Given the description of an element on the screen output the (x, y) to click on. 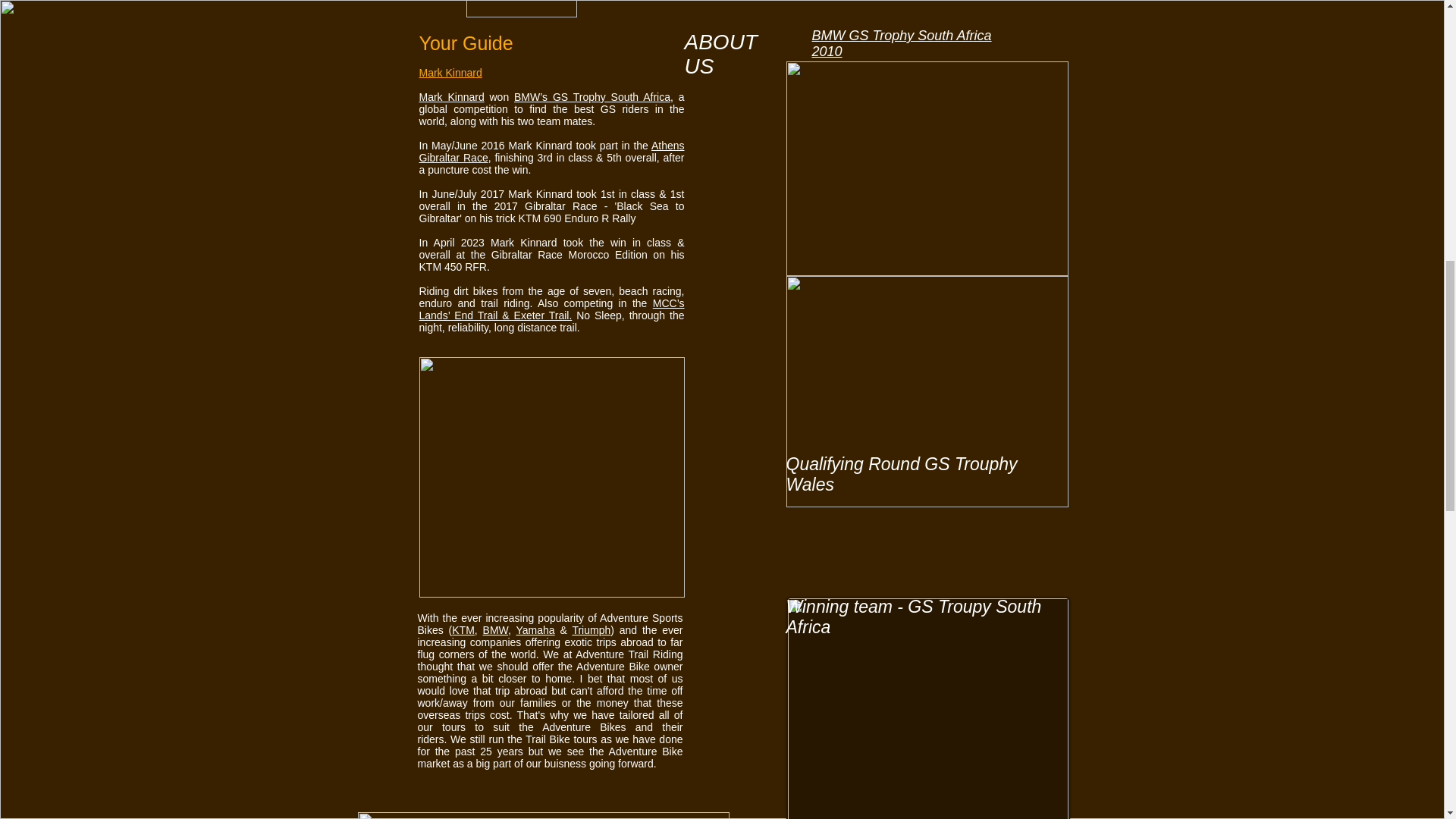
Yamaha (535, 630)
Mark Kinnard (450, 72)
KTM (462, 630)
Mark Kinnard (451, 96)
Triumph (591, 630)
BMW (495, 630)
SGT.png (520, 8)
BMW GS Trophy South Africa 2010 (900, 42)
Athens Gibraltar Race (551, 151)
